Given the description of an element on the screen output the (x, y) to click on. 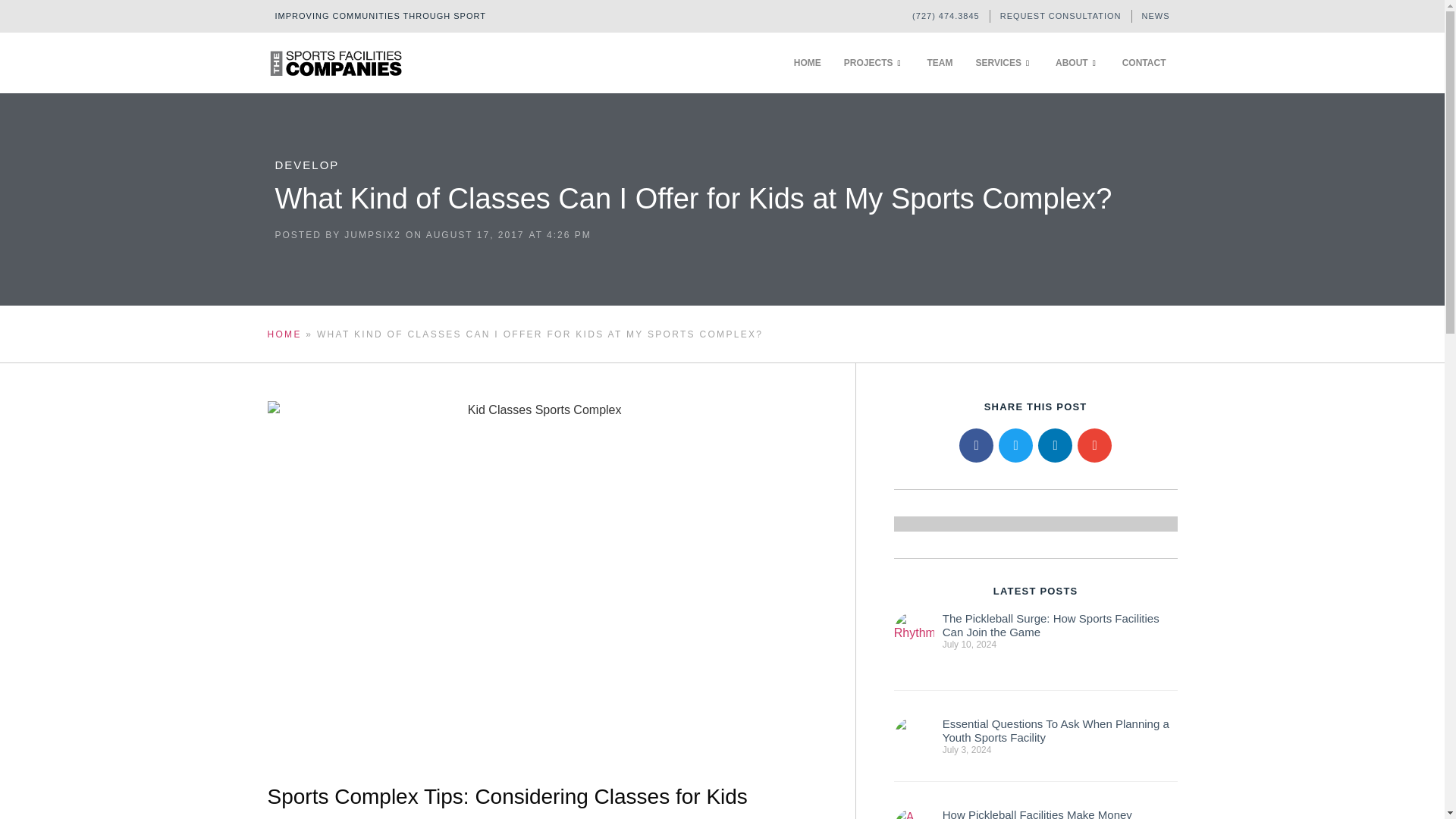
NEWS (1155, 15)
REQUEST CONSULTATION (1060, 15)
PROJECTS (873, 62)
